Given the description of an element on the screen output the (x, y) to click on. 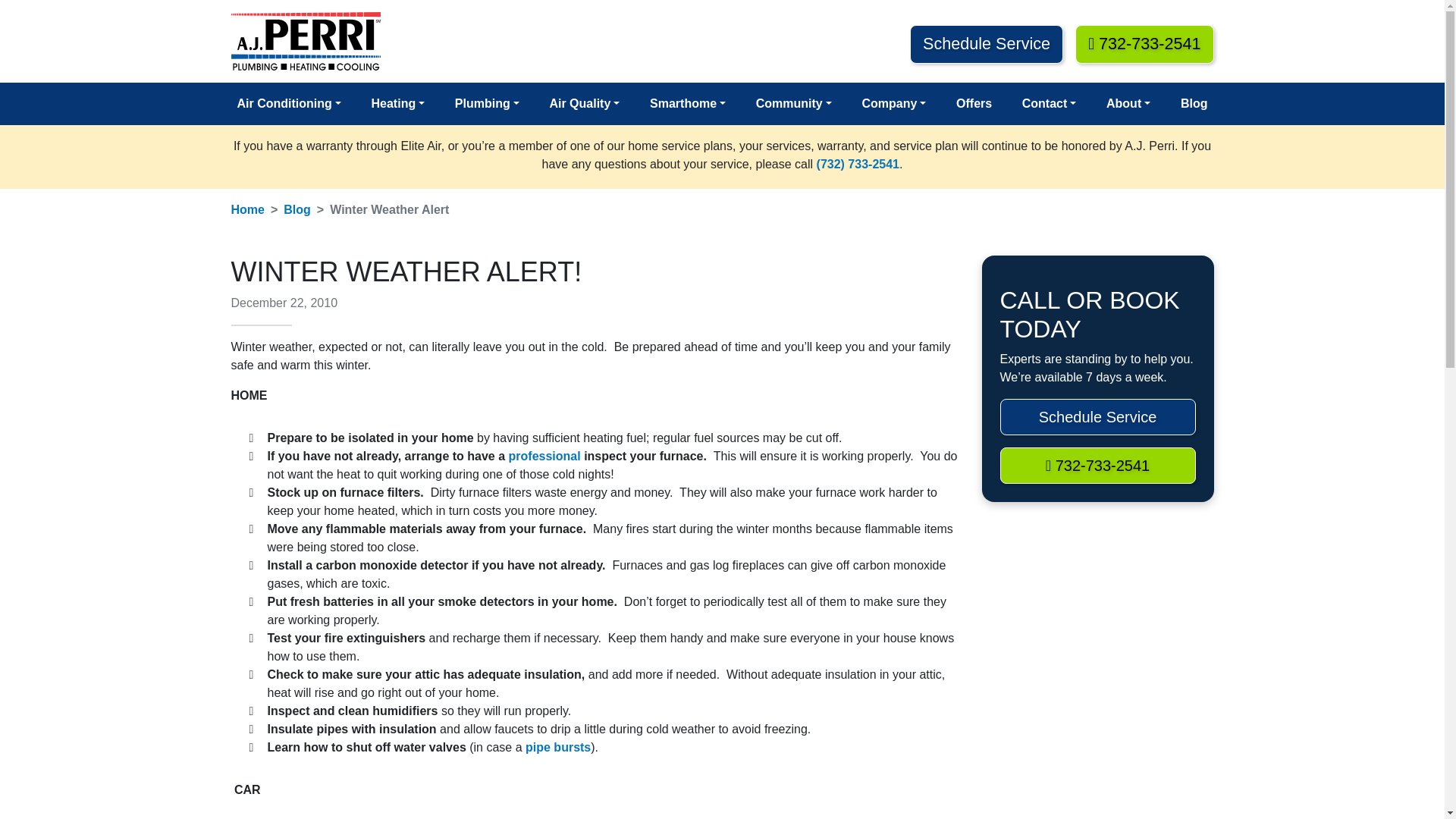
Air Quality (584, 103)
 732-733-2541 (1143, 44)
Plumbing (486, 103)
Smarthome (687, 103)
Air Conditioning (288, 103)
Heating (397, 103)
Schedule Service (986, 44)
